Given the description of an element on the screen output the (x, y) to click on. 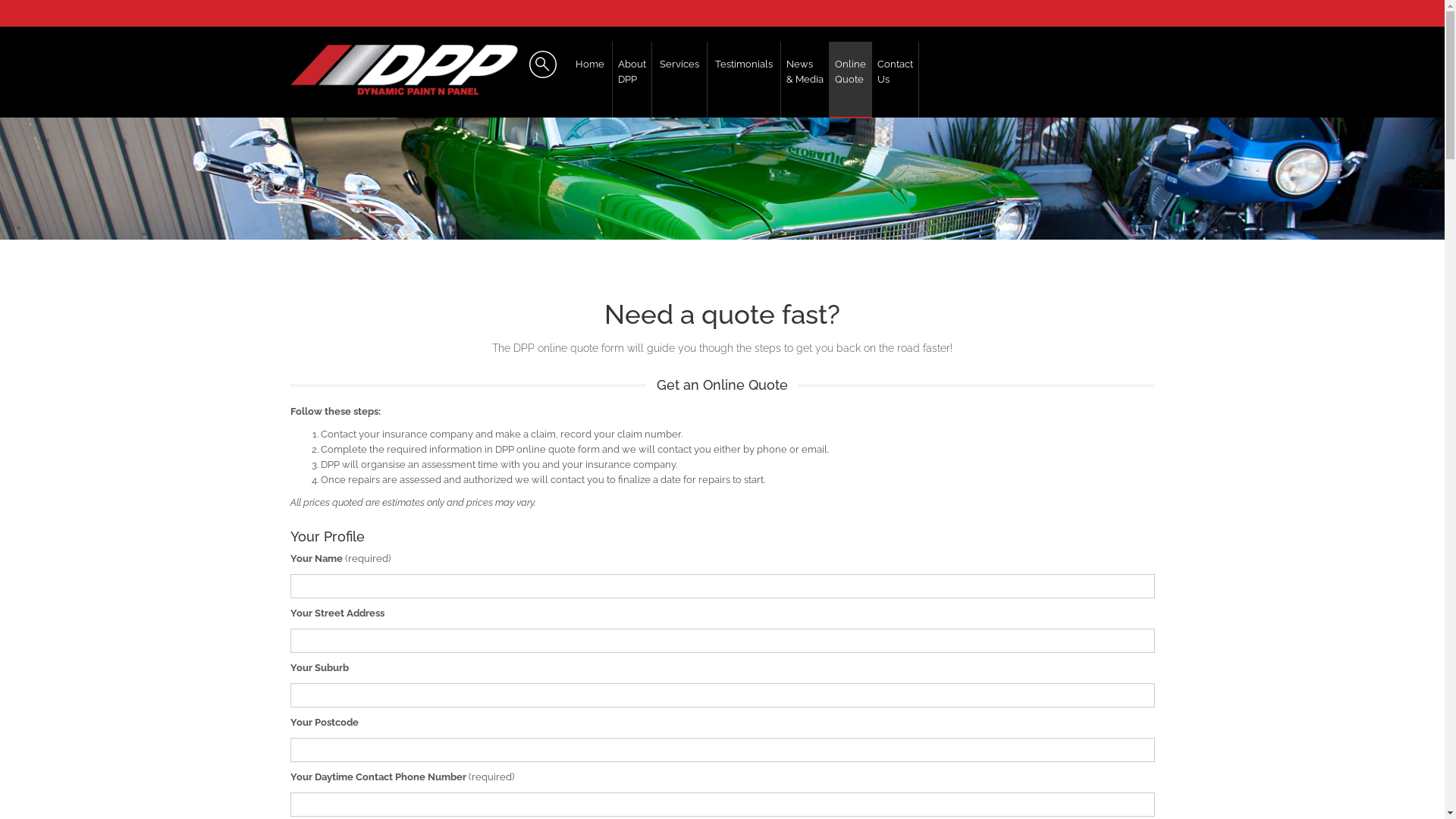
Testimonials Element type: text (742, 79)
Online
Quote Element type: text (850, 79)
Contact
Us Element type: text (895, 79)
About
DPP Element type: text (631, 79)
News
& Media Element type: text (804, 79)
Services Element type: text (679, 79)
Home Element type: text (589, 79)
